Given the description of an element on the screen output the (x, y) to click on. 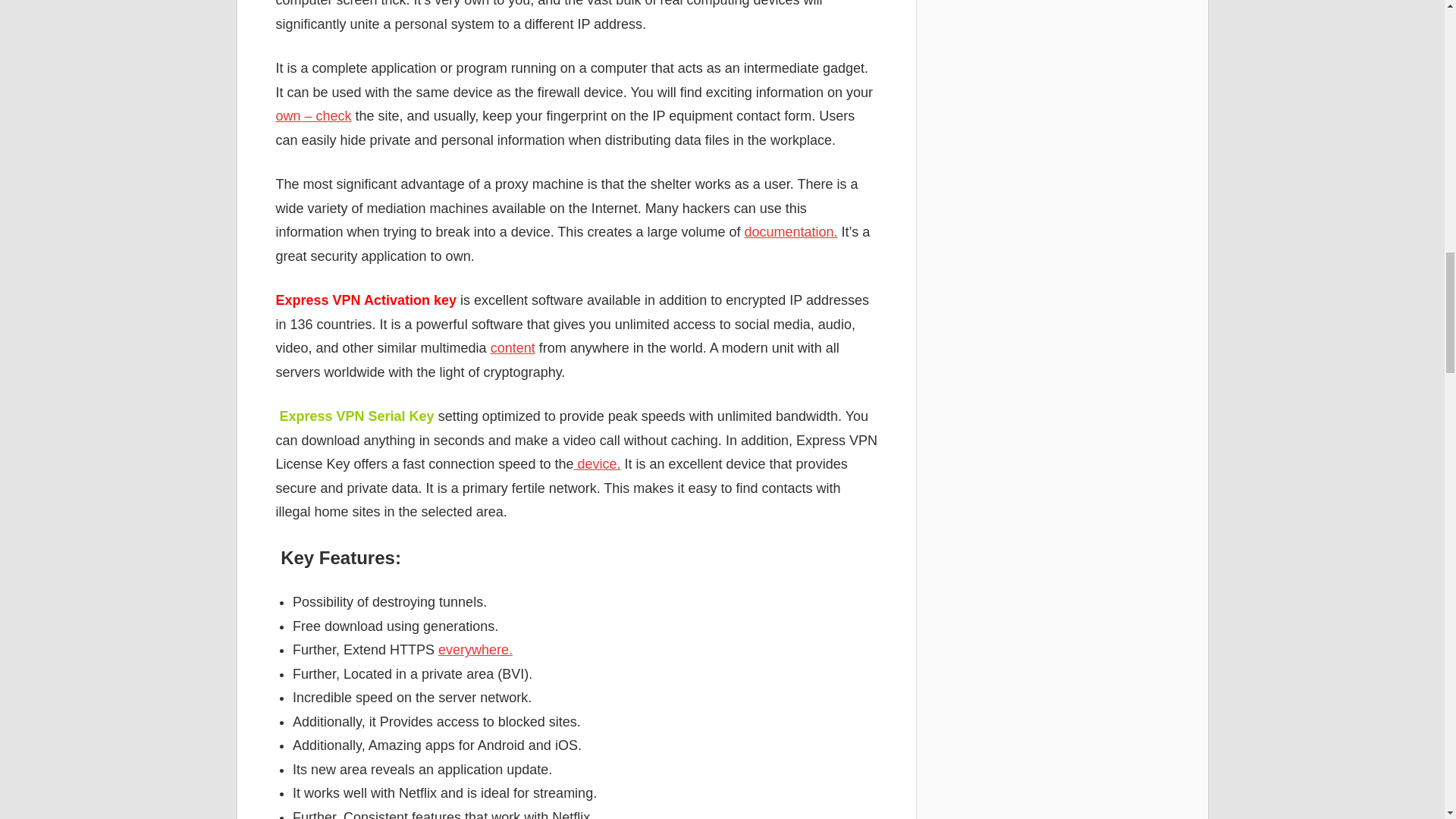
content (512, 347)
device. (596, 463)
everywhere. (475, 649)
documentation. (791, 231)
